Given the description of an element on the screen output the (x, y) to click on. 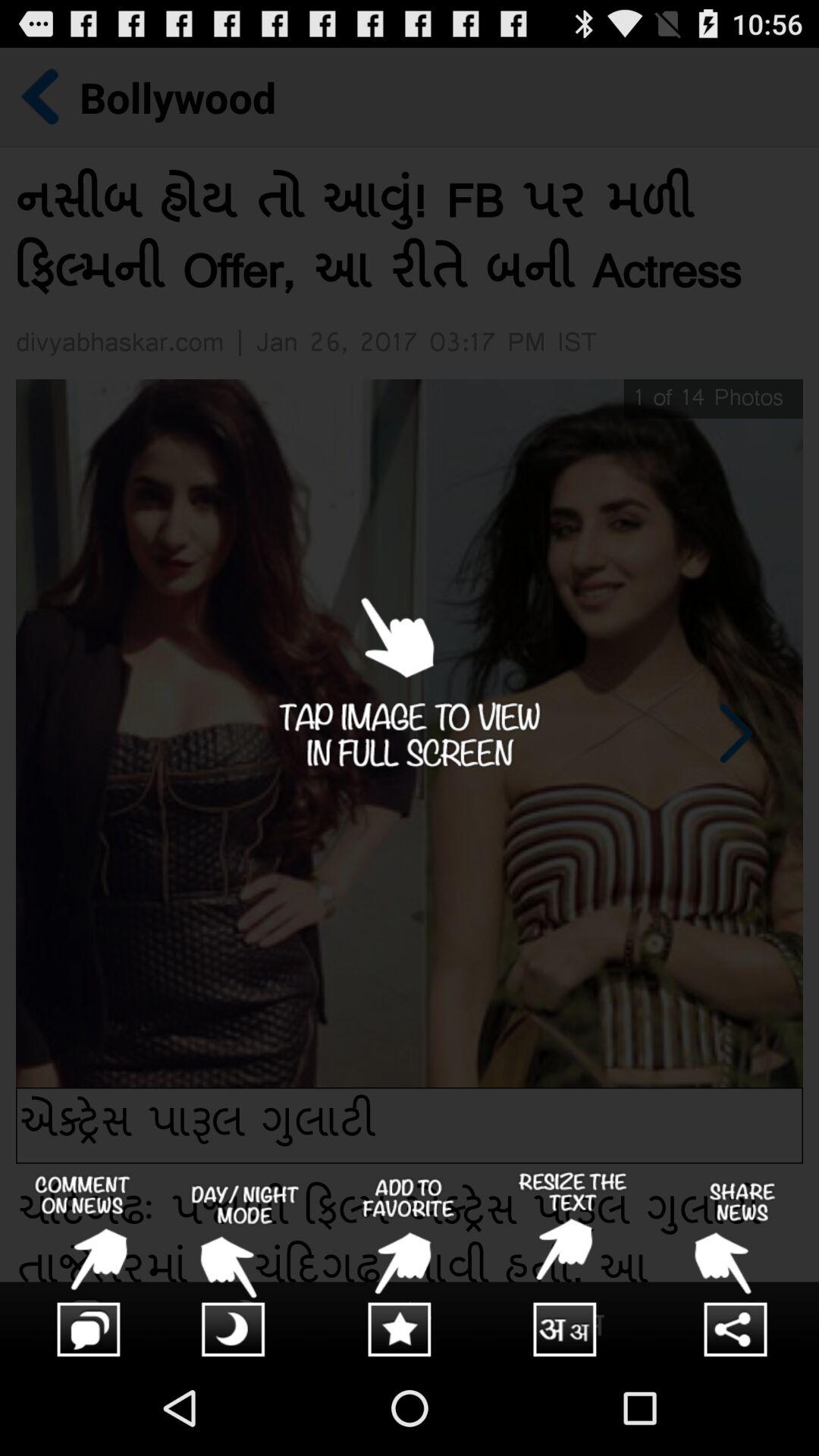
comment box (81, 1265)
